Given the description of an element on the screen output the (x, y) to click on. 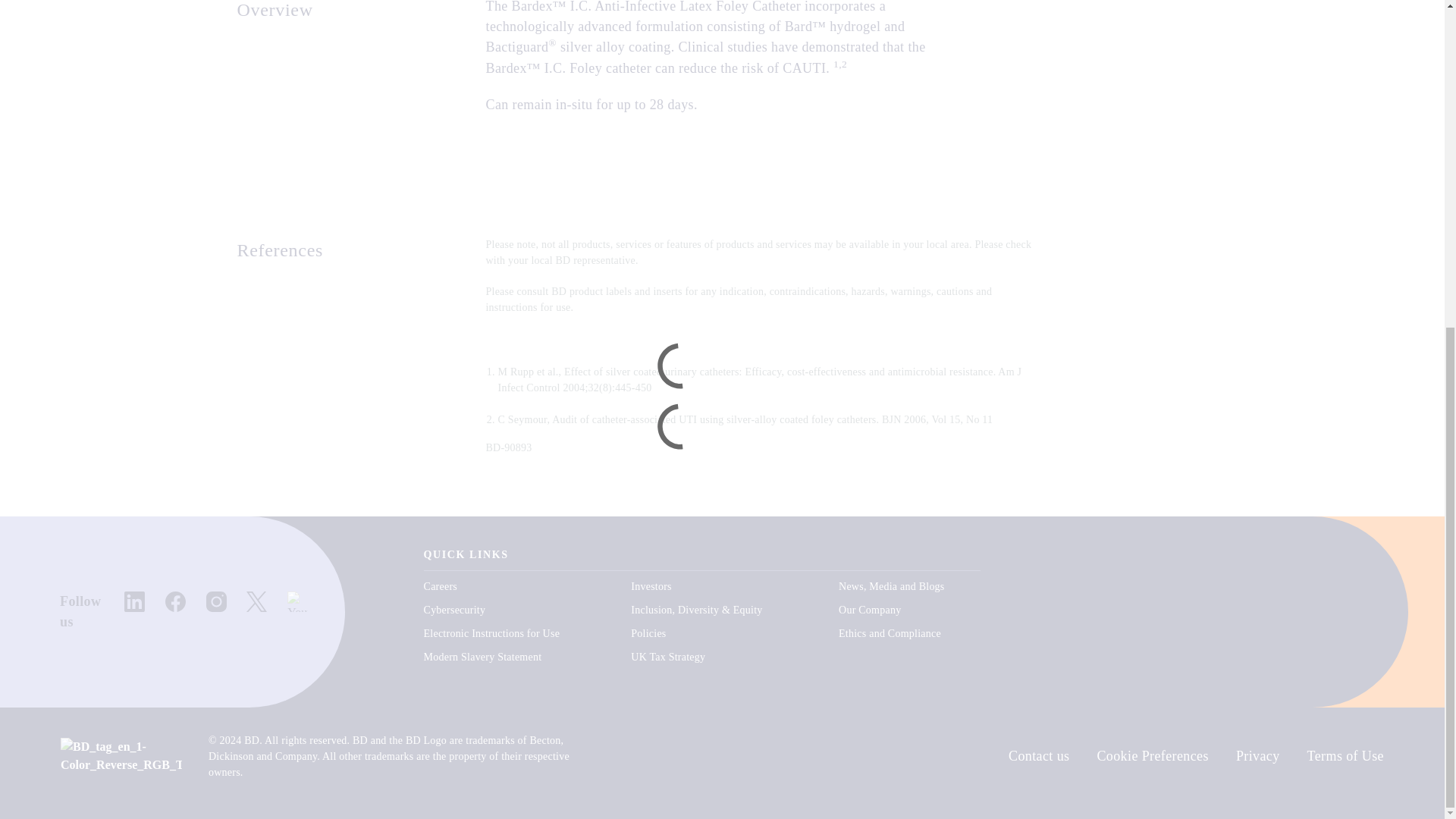
Instagram (216, 601)
Facebook (175, 601)
X (256, 601)
Linked In (133, 601)
Youtube (296, 601)
